Given the description of an element on the screen output the (x, y) to click on. 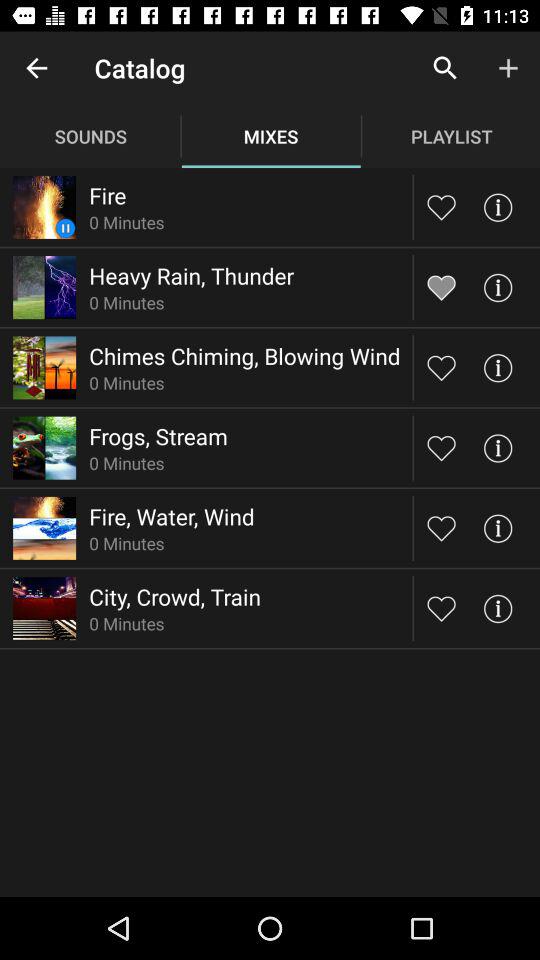
like button (441, 527)
